Given the description of an element on the screen output the (x, y) to click on. 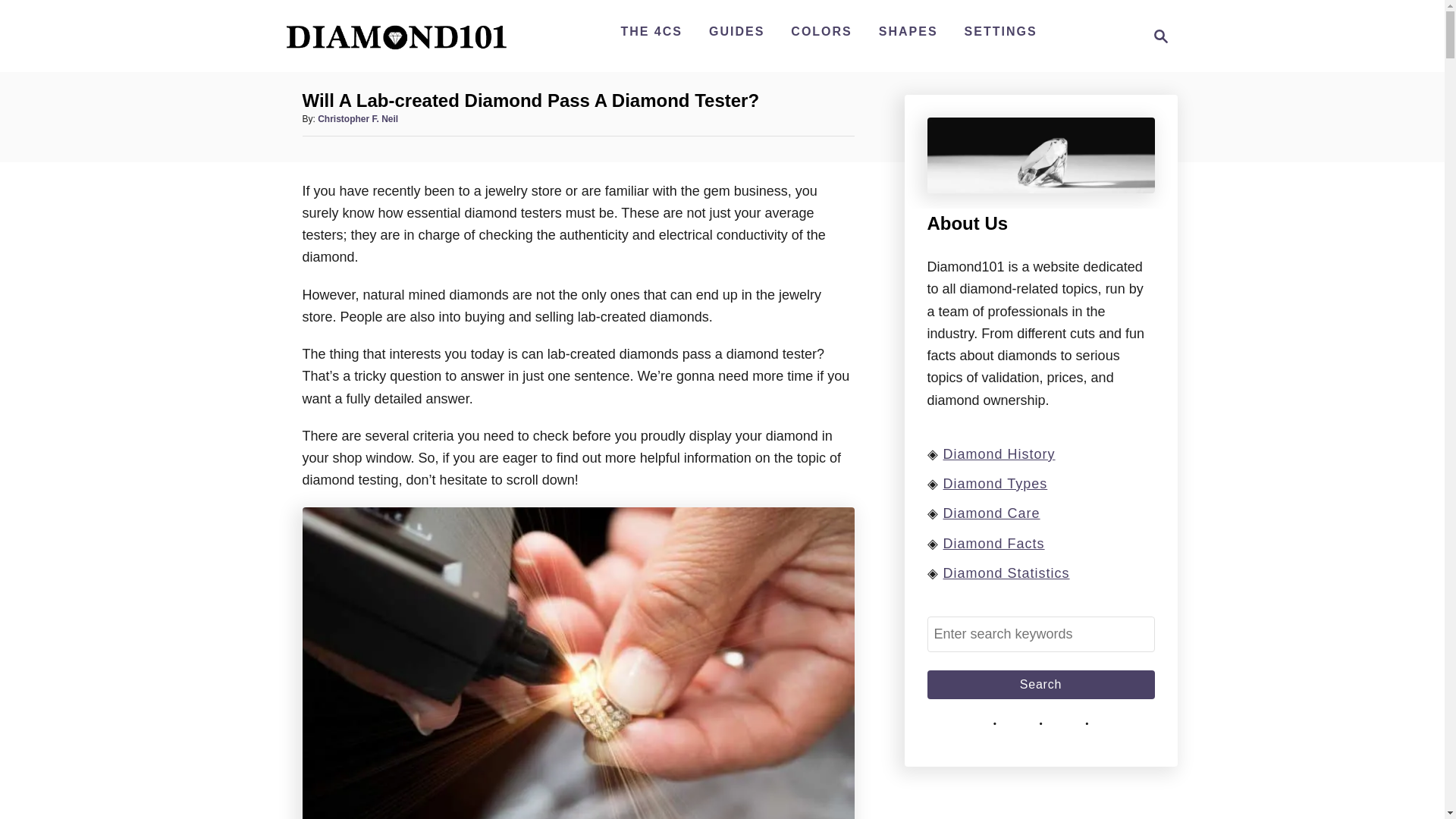
THE 4CS (651, 31)
Magnifying Glass (1160, 36)
GUIDES (1155, 36)
Search for: (736, 31)
Diamond101 (1040, 633)
Search (395, 35)
Search (1040, 684)
COLORS (1040, 684)
